Given the description of an element on the screen output the (x, y) to click on. 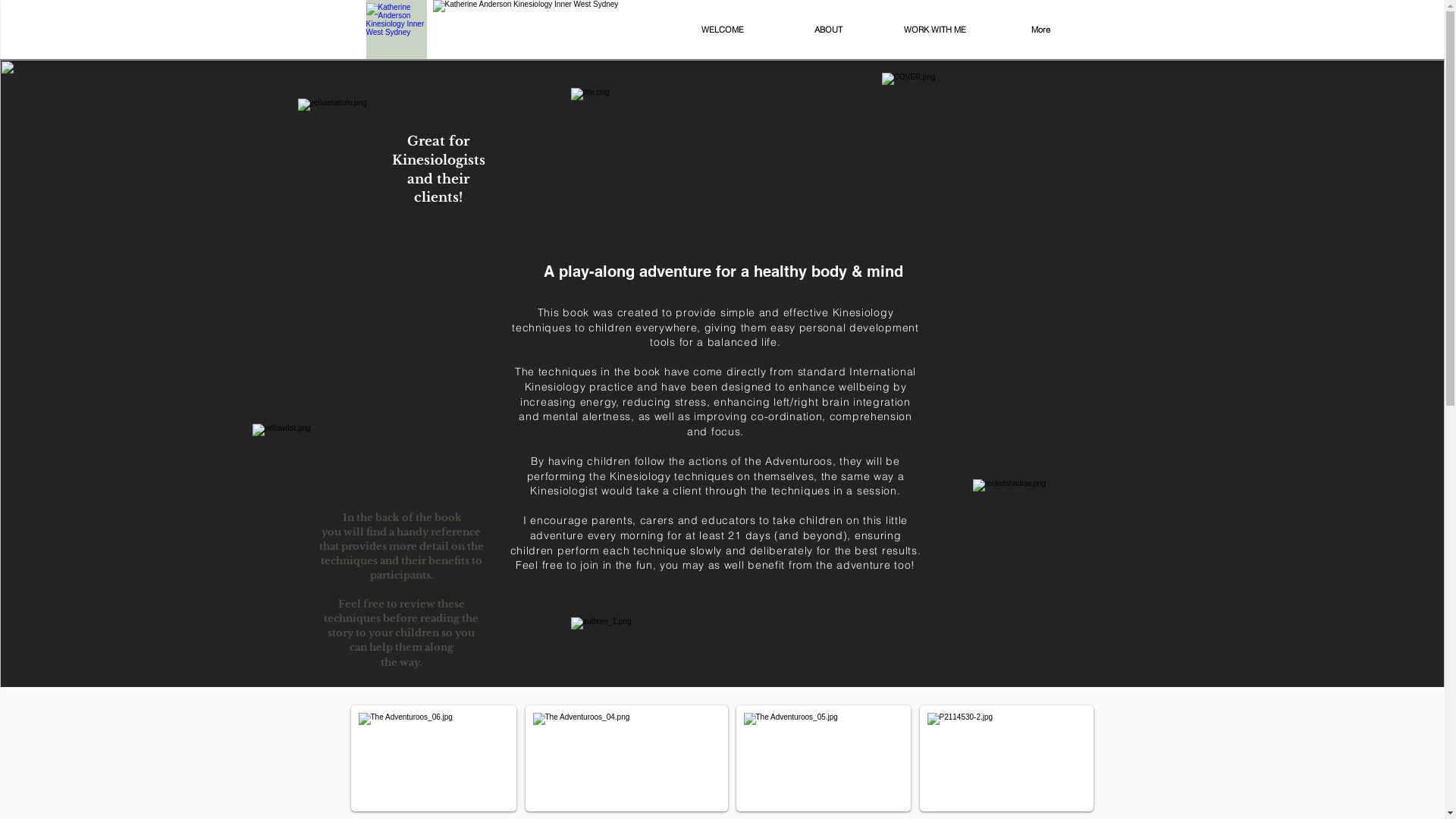
WELCOME Element type: text (721, 29)
ABOUT Element type: text (828, 29)
WORK WITH ME Element type: text (934, 29)
The Adventuroos Element type: hover (1002, 167)
